Given the description of an element on the screen output the (x, y) to click on. 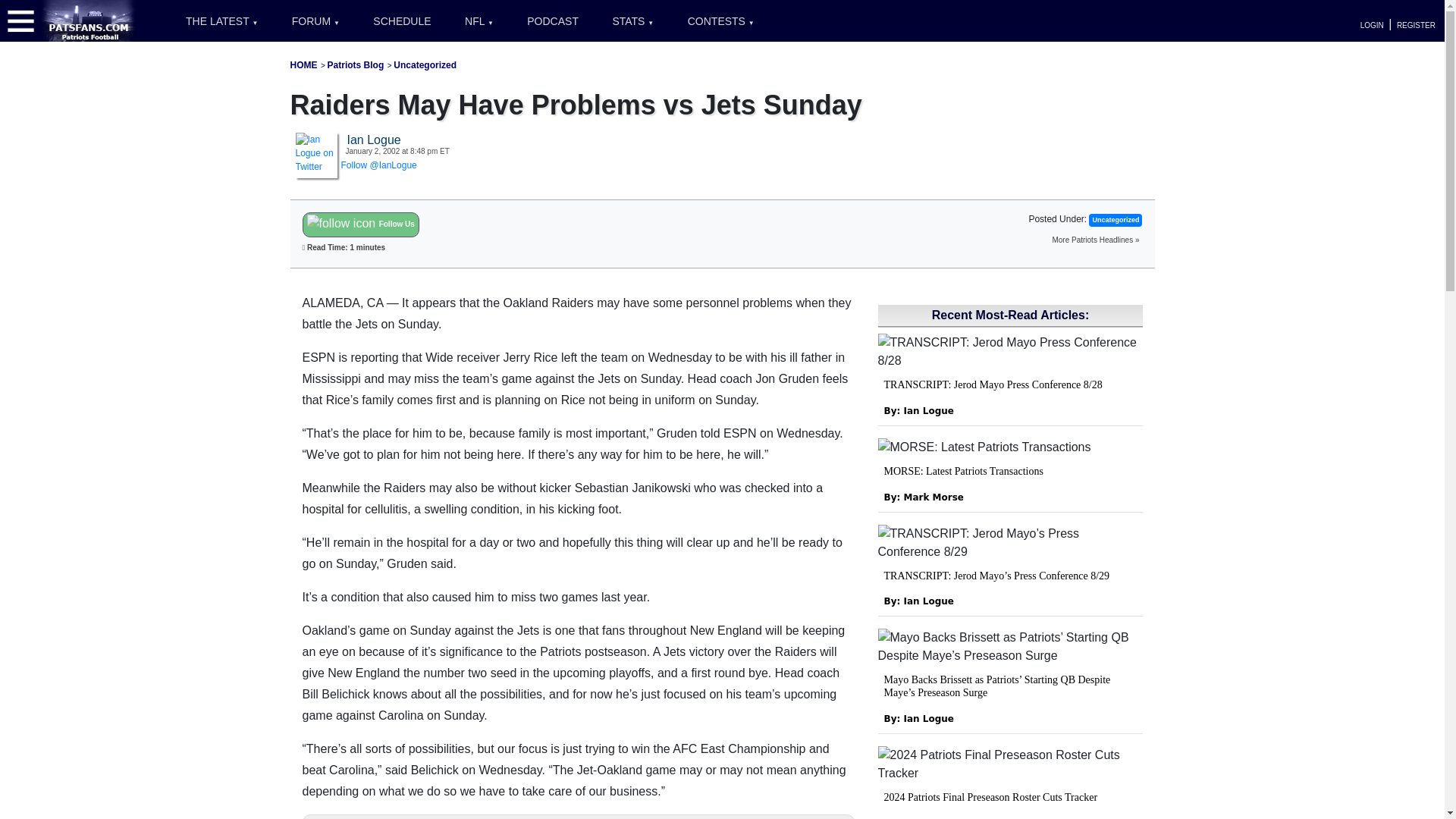
PODCAST (553, 21)
SCHEDULE (401, 21)
New England Patriots at PatsFans.com (303, 64)
Uncategorized (425, 64)
Ian Logue on PatsFans.com (316, 152)
Patriots Blog (355, 64)
PatsFans.com (89, 19)
